Given the description of an element on the screen output the (x, y) to click on. 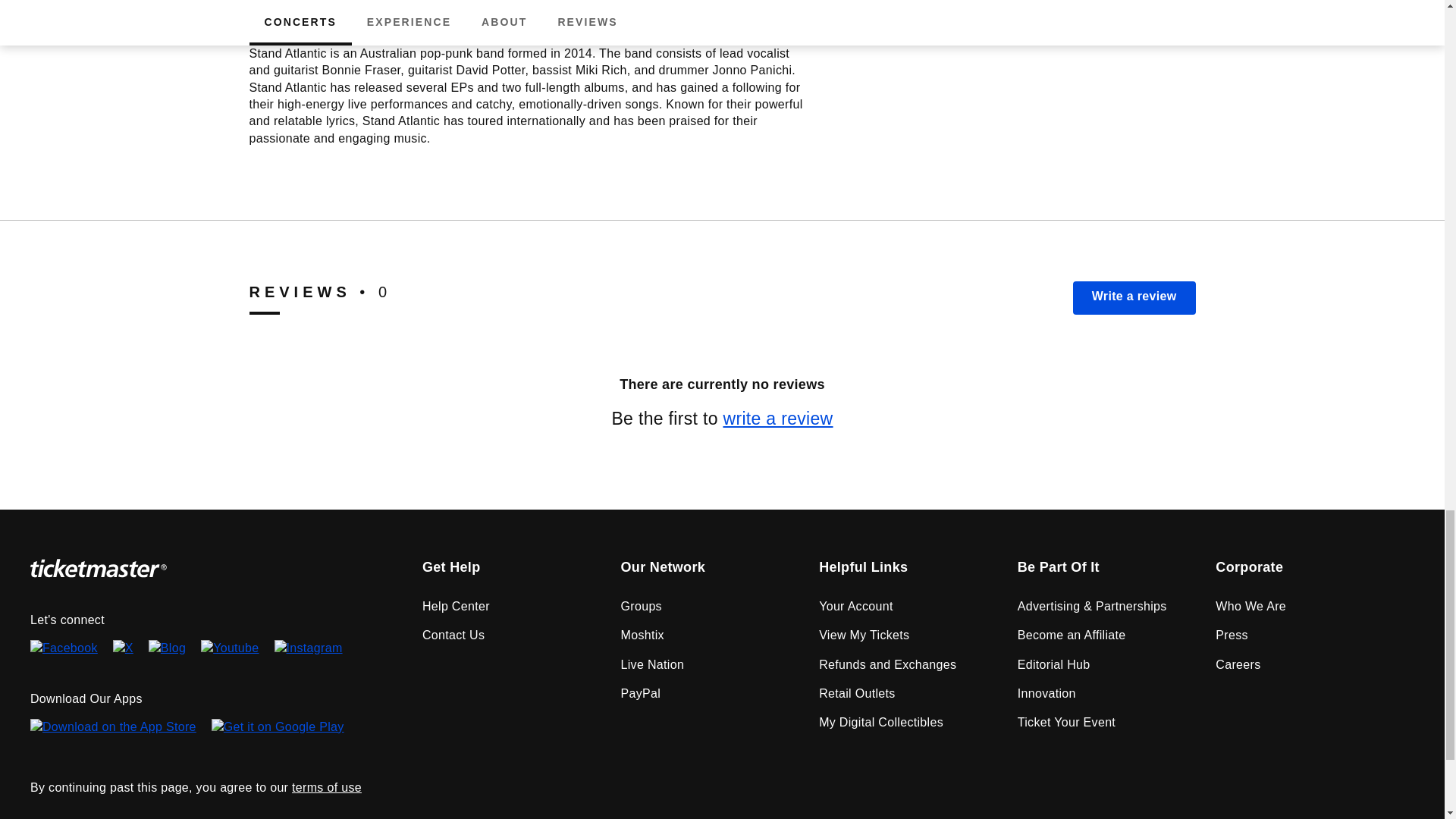
Get it on Google Play (277, 733)
Youtube (229, 648)
X (123, 648)
Instagram (308, 648)
Download on the App Store (113, 733)
Facebook (63, 648)
Blog (167, 648)
